Given the description of an element on the screen output the (x, y) to click on. 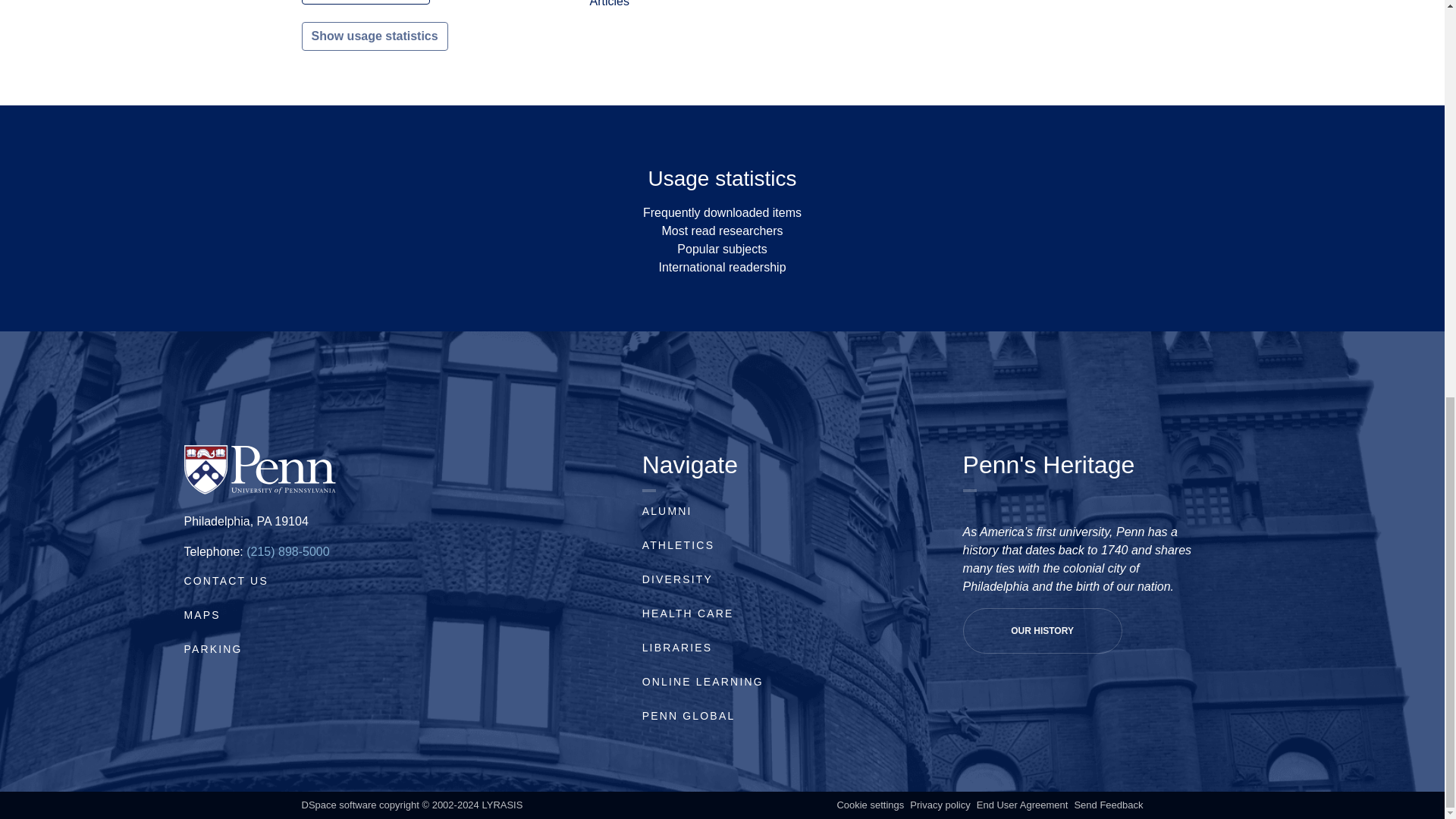
Frequently downloaded items (722, 212)
Frequently downloaded items (722, 212)
ATHLETICS (678, 544)
Most read researchers (722, 230)
View all metadata (365, 2)
CONTACT US (225, 580)
ONLINE LEARNING (702, 681)
Popular subjects (722, 248)
DIVERSITY (677, 579)
PENN GLOBAL (688, 715)
International readership (722, 267)
Articles (608, 3)
Show usage statistics (374, 36)
End User Agreement (1022, 804)
DSpace software (339, 804)
